Given the description of an element on the screen output the (x, y) to click on. 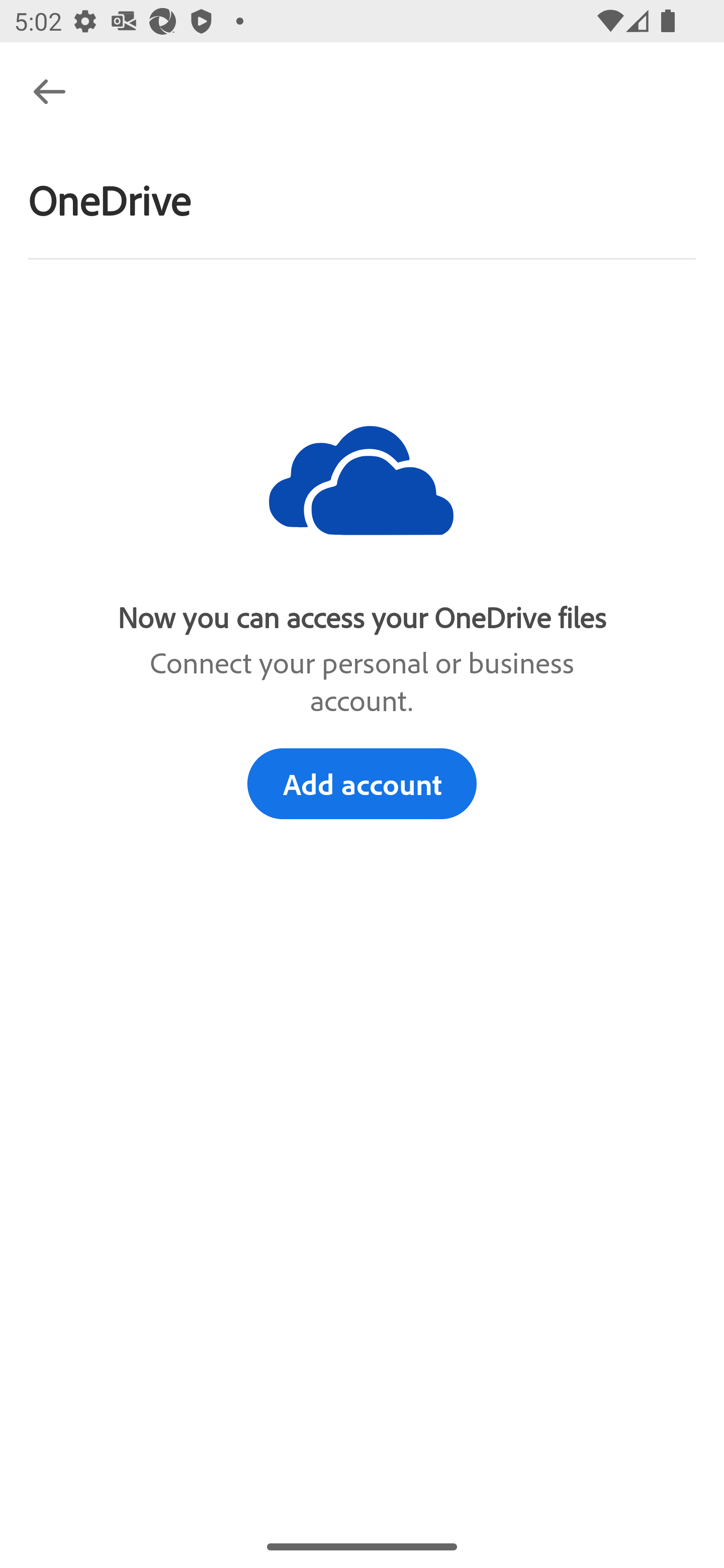
Navigate up (49, 91)
Add account (361, 783)
